Given the description of an element on the screen output the (x, y) to click on. 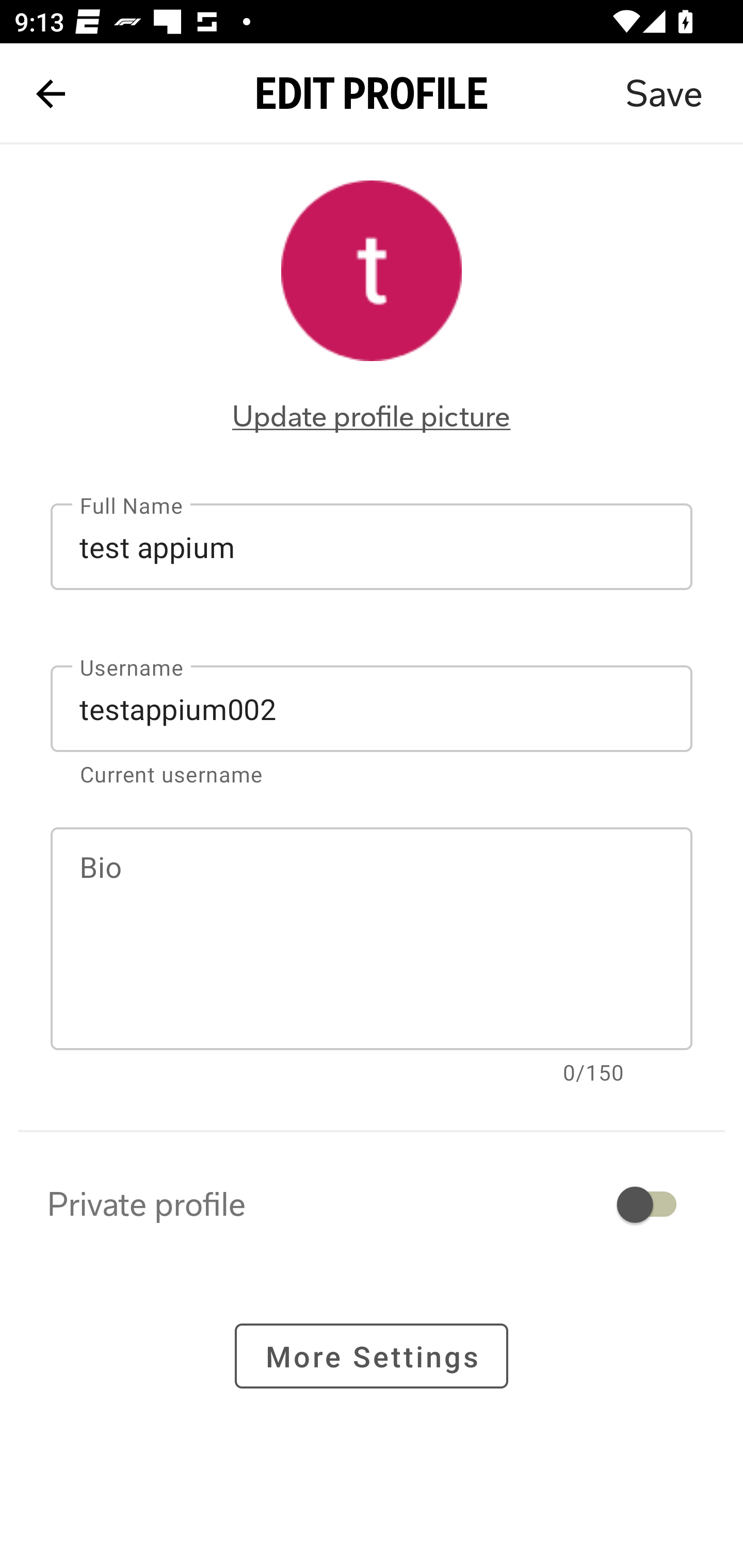
Back (50, 93)
Save (663, 93)
Update profile picture (371, 415)
test appium (371, 546)
testappium002 (371, 708)
Bio (371, 938)
Private profile (371, 1204)
More Settings (371, 1355)
